Given the description of an element on the screen output the (x, y) to click on. 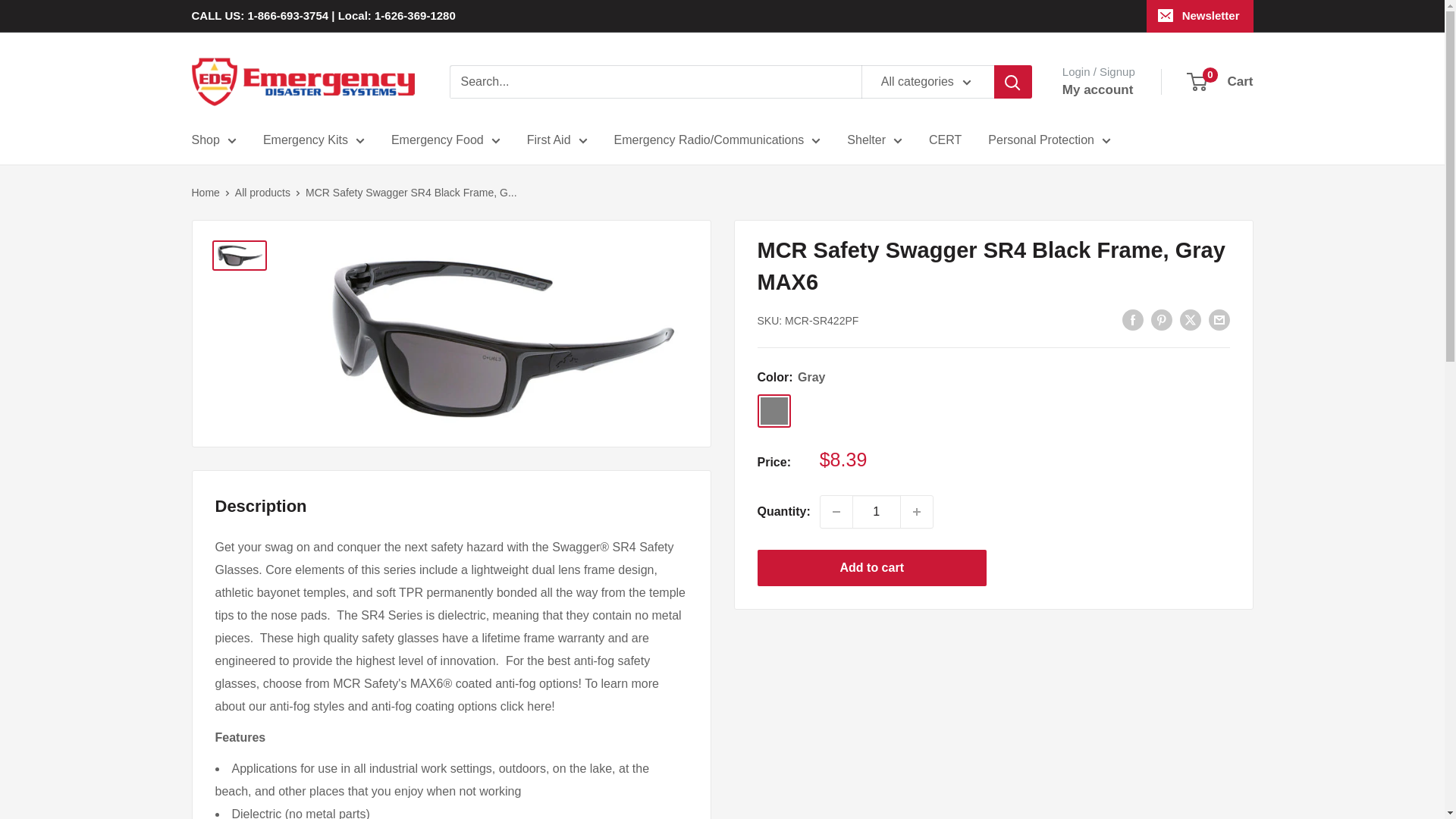
Gray (773, 411)
Newsletter (1200, 15)
Increase quantity by 1 (917, 511)
Decrease quantity by 1 (836, 511)
1 (876, 511)
